Given the description of an element on the screen output the (x, y) to click on. 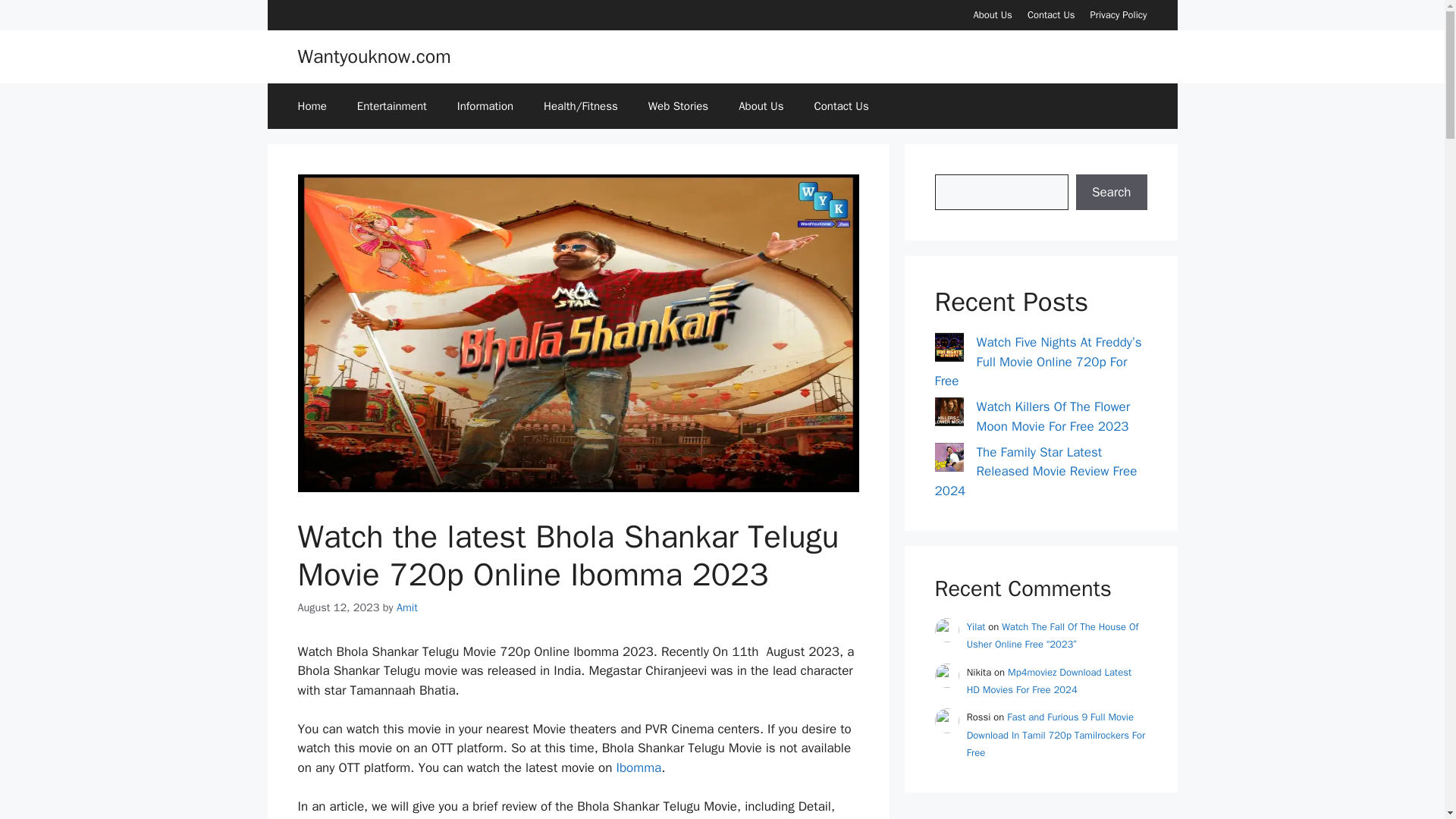
Mp4moviez Download Latest HD Movies For Free 2024 (1048, 680)
Home (311, 105)
Privacy Policy (1118, 14)
Web Stories (678, 105)
Information (485, 105)
Search (1111, 192)
Contact Us (840, 105)
View all posts by Amit (406, 607)
About Us (760, 105)
Ibomma (638, 767)
Watch Killers Of The Flower Moon Movie For Free 2023 (1053, 416)
Amit (406, 607)
About Us (991, 14)
Yilat (975, 626)
The Family Star Latest Released Movie Review Free 2024 (1035, 471)
